Given the description of an element on the screen output the (x, y) to click on. 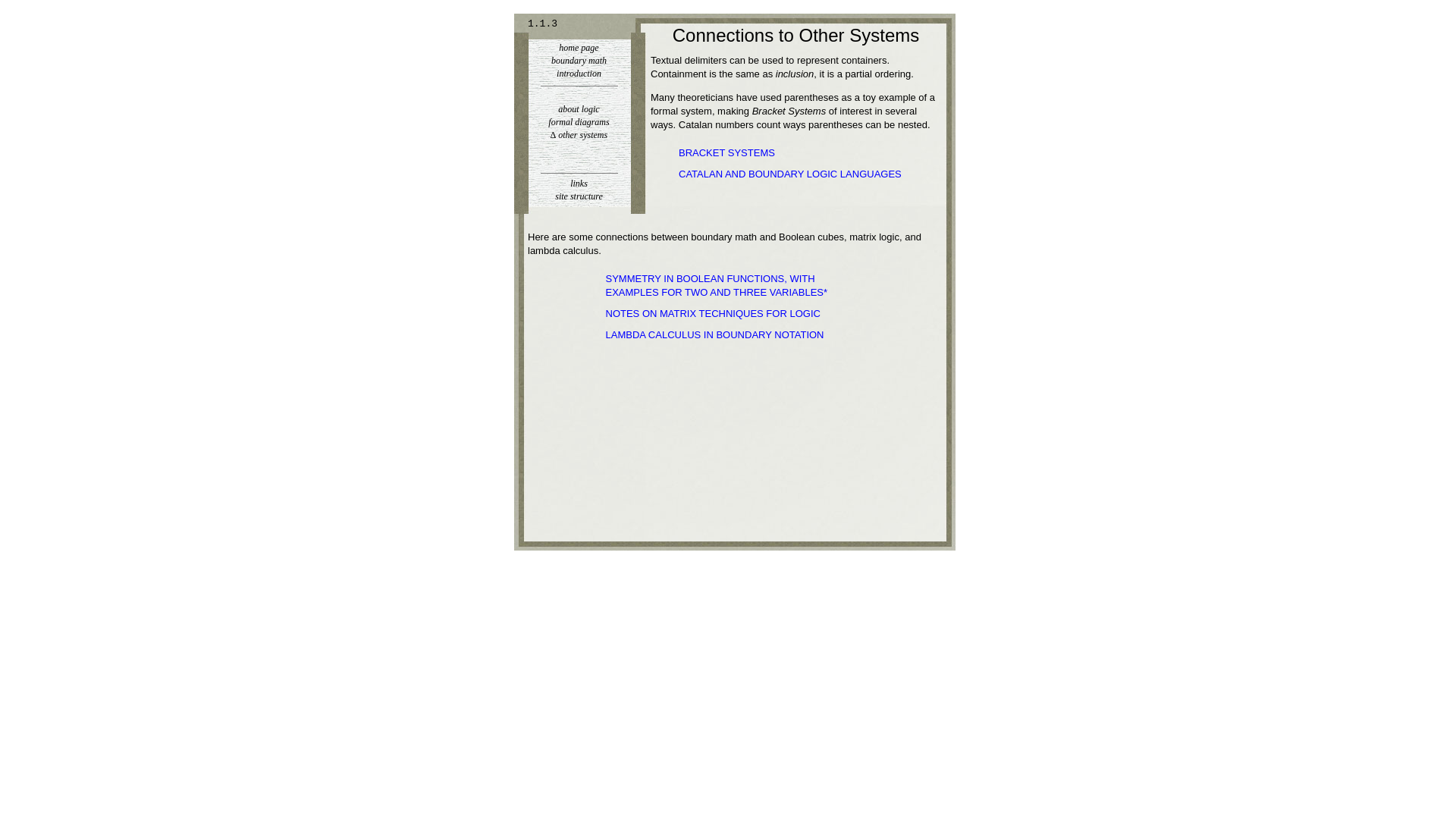
LAMBDA CALCULUS IN BOUNDARY NOTATION (714, 334)
NOTES ON MATRIX TECHNIQUES FOR LOGIC (712, 313)
CATALAN AND BOUNDARY LOGIC LANGUAGES (789, 173)
BRACKET SYSTEMS (726, 152)
